Given the description of an element on the screen output the (x, y) to click on. 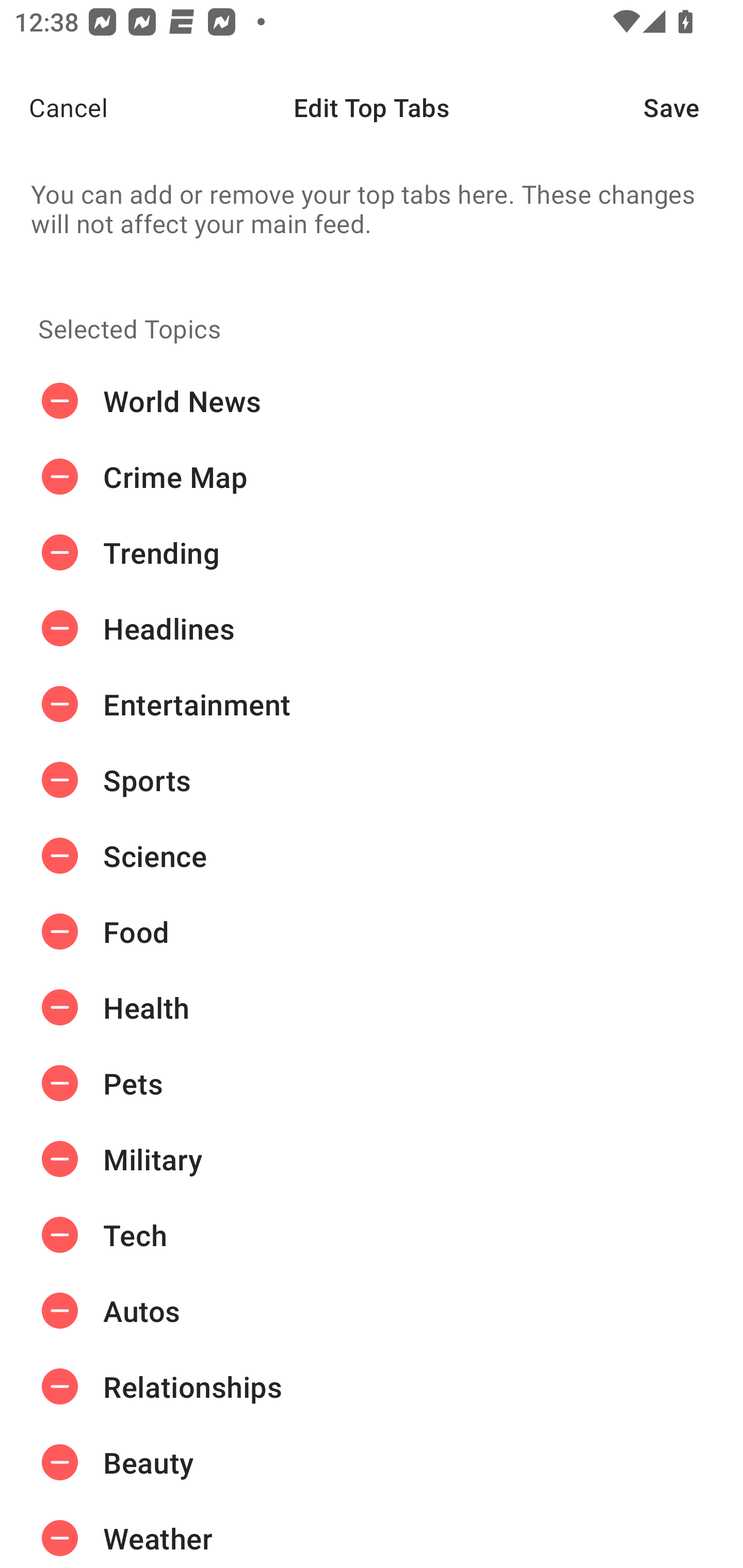
Cancel (53, 106)
Save (693, 106)
World News (371, 401)
Crime Map (371, 476)
Trending (371, 552)
Headlines (371, 628)
Entertainment (371, 703)
Sports (371, 779)
Science (371, 855)
Food (371, 931)
Health (371, 1007)
Pets (371, 1083)
Military (371, 1158)
Tech (371, 1234)
Autos (371, 1310)
Relationships (371, 1386)
Beauty (371, 1462)
Weather (371, 1534)
